Given the description of an element on the screen output the (x, y) to click on. 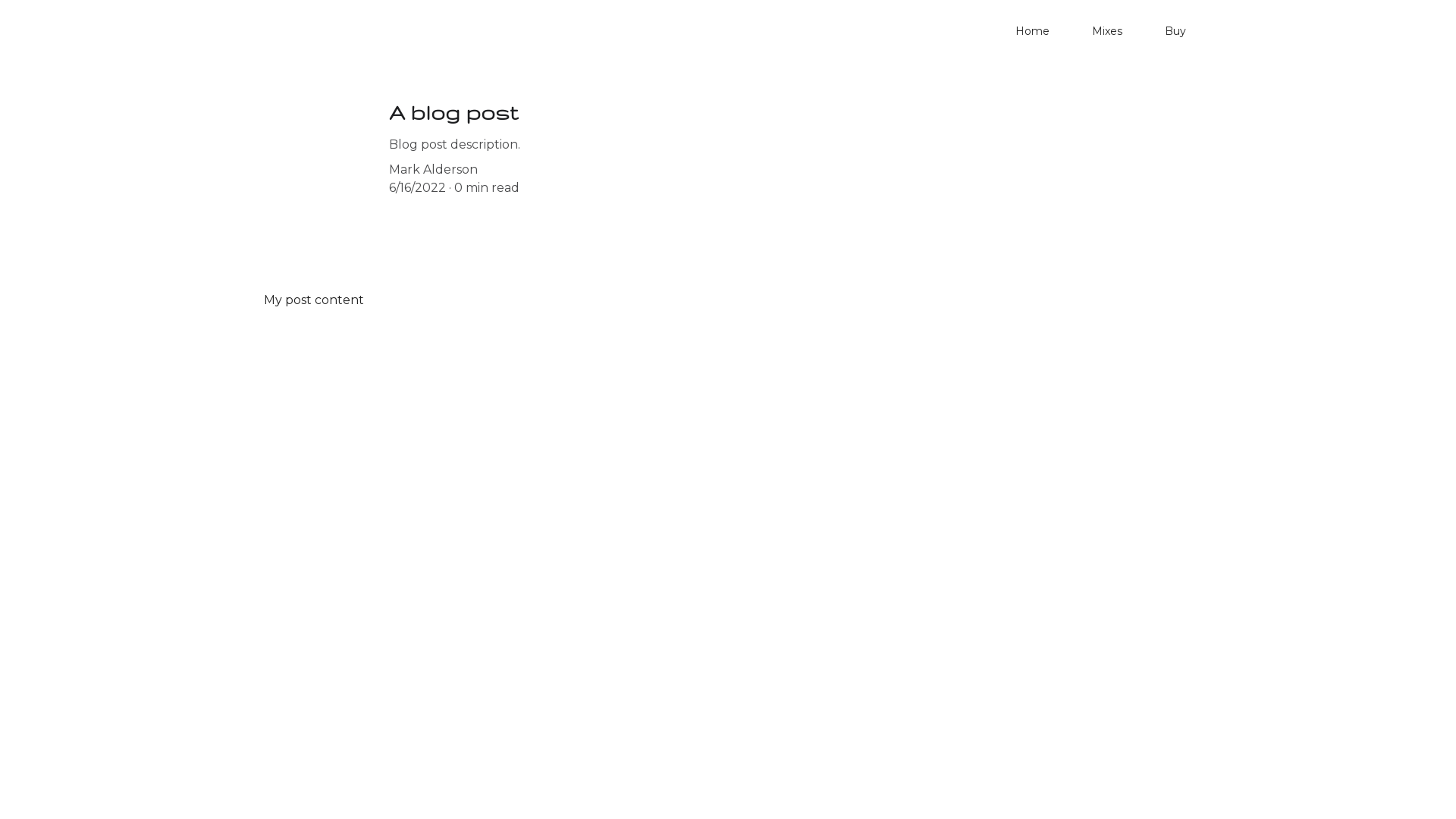
Home Element type: text (1032, 30)
Buy Element type: text (1175, 30)
Mixes Element type: text (1107, 30)
